Given the description of an element on the screen output the (x, y) to click on. 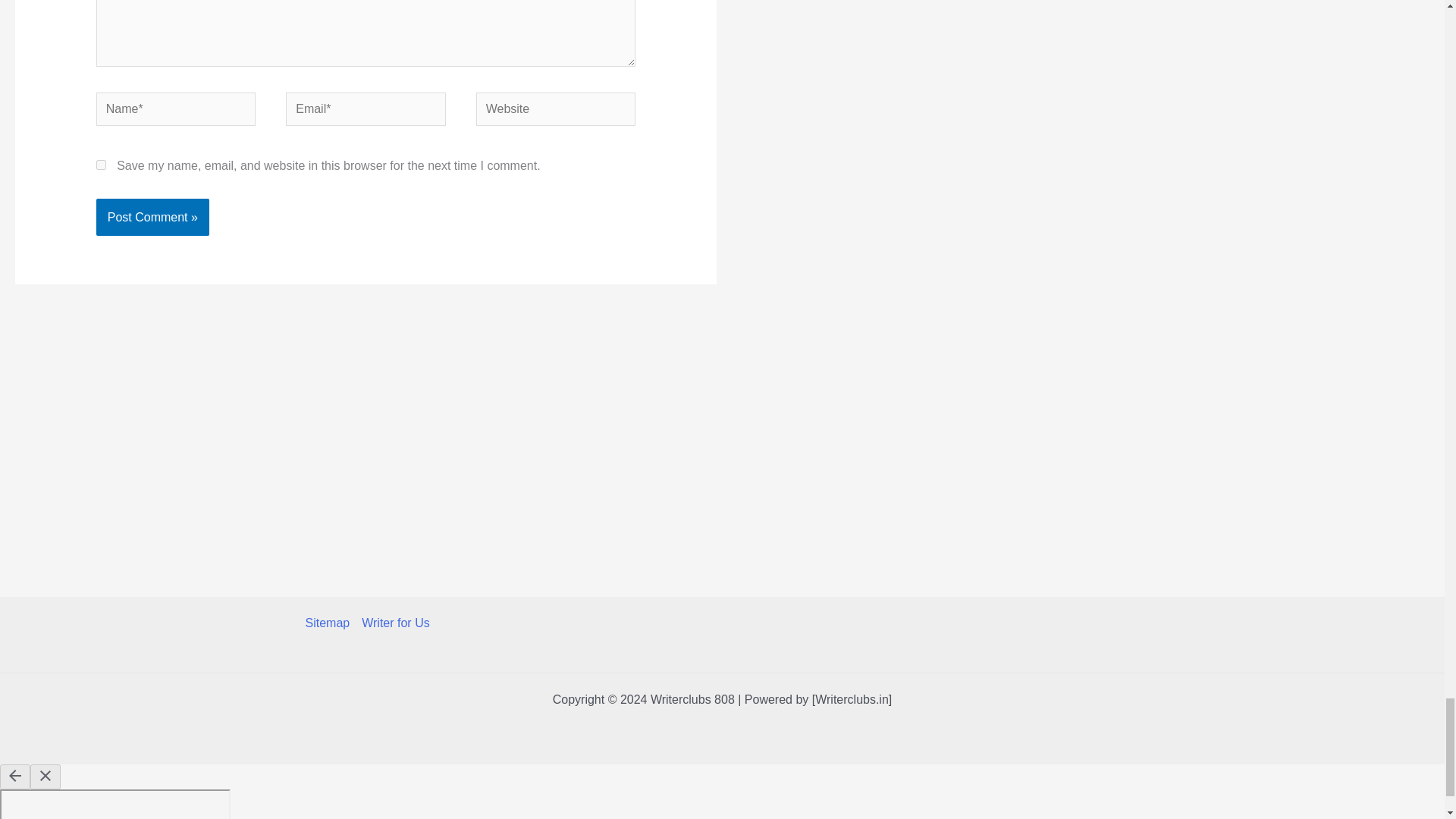
yes (101, 164)
